Given the description of an element on the screen output the (x, y) to click on. 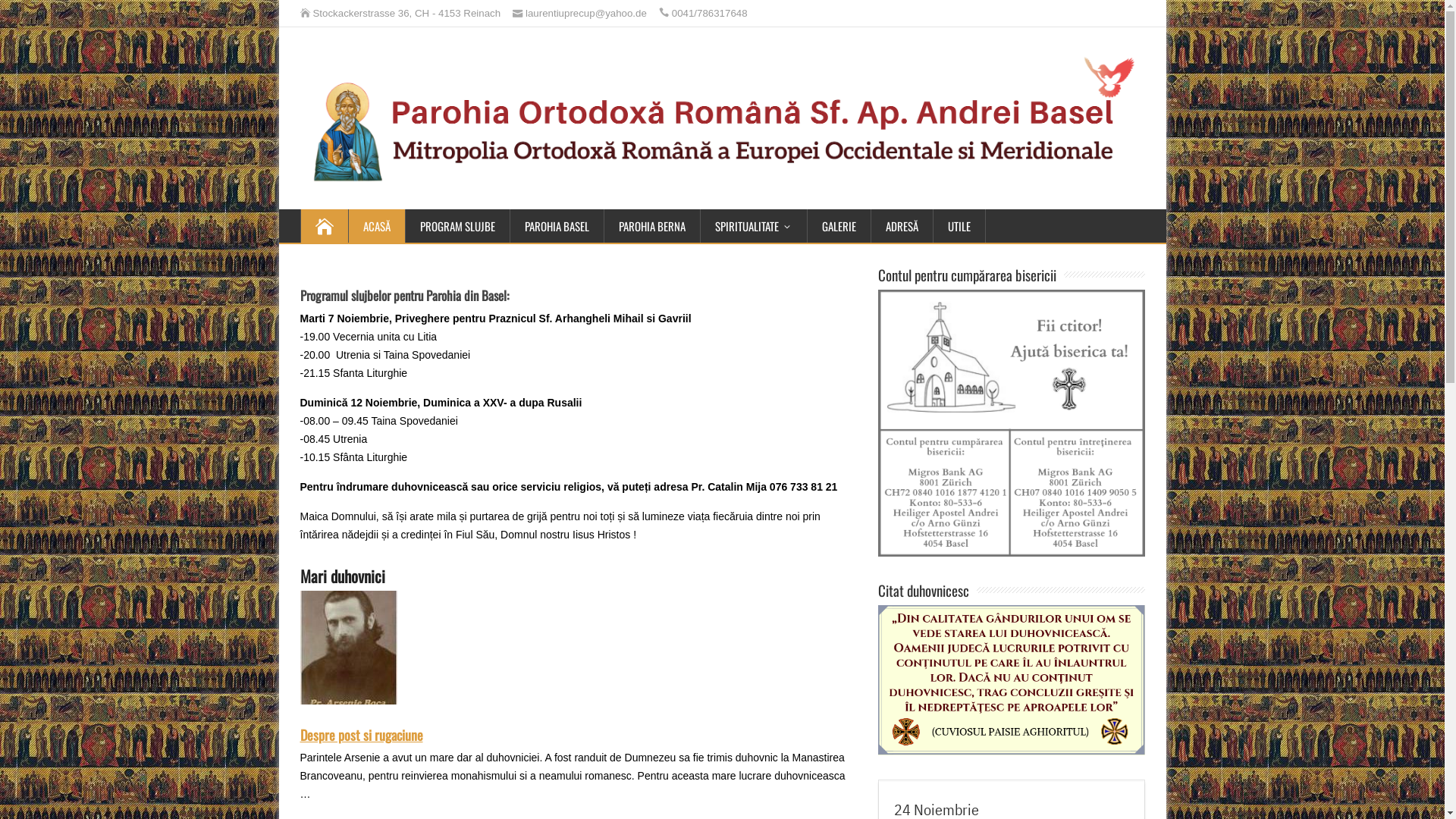
UTILE Element type: text (959, 225)
GALERIE Element type: text (839, 225)
Despre post si rugaciune Element type: text (361, 734)
SPIRITUALITATE Element type: text (754, 225)
PAROHIA BASEL Element type: text (556, 225)
PROGRAM SLUJBE Element type: text (456, 225)
PAROHIA BERNA Element type: text (651, 225)
